Given the description of an element on the screen output the (x, y) to click on. 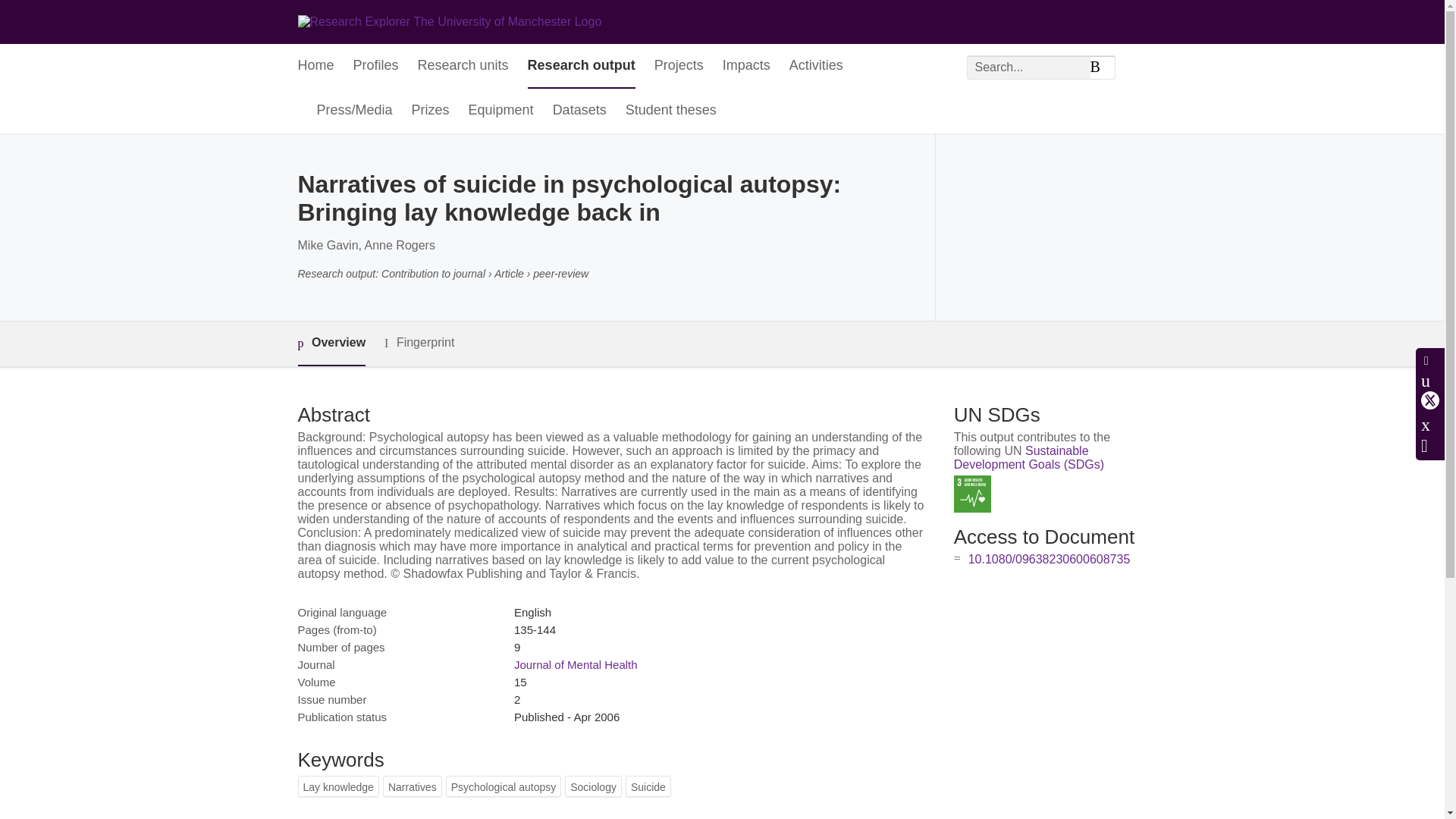
Datasets (580, 110)
Student theses (671, 110)
Journal of Mental Health (575, 664)
Projects (678, 66)
Activities (816, 66)
Equipment (501, 110)
Impacts (746, 66)
Profiles (375, 66)
Research output (580, 66)
